Given the description of an element on the screen output the (x, y) to click on. 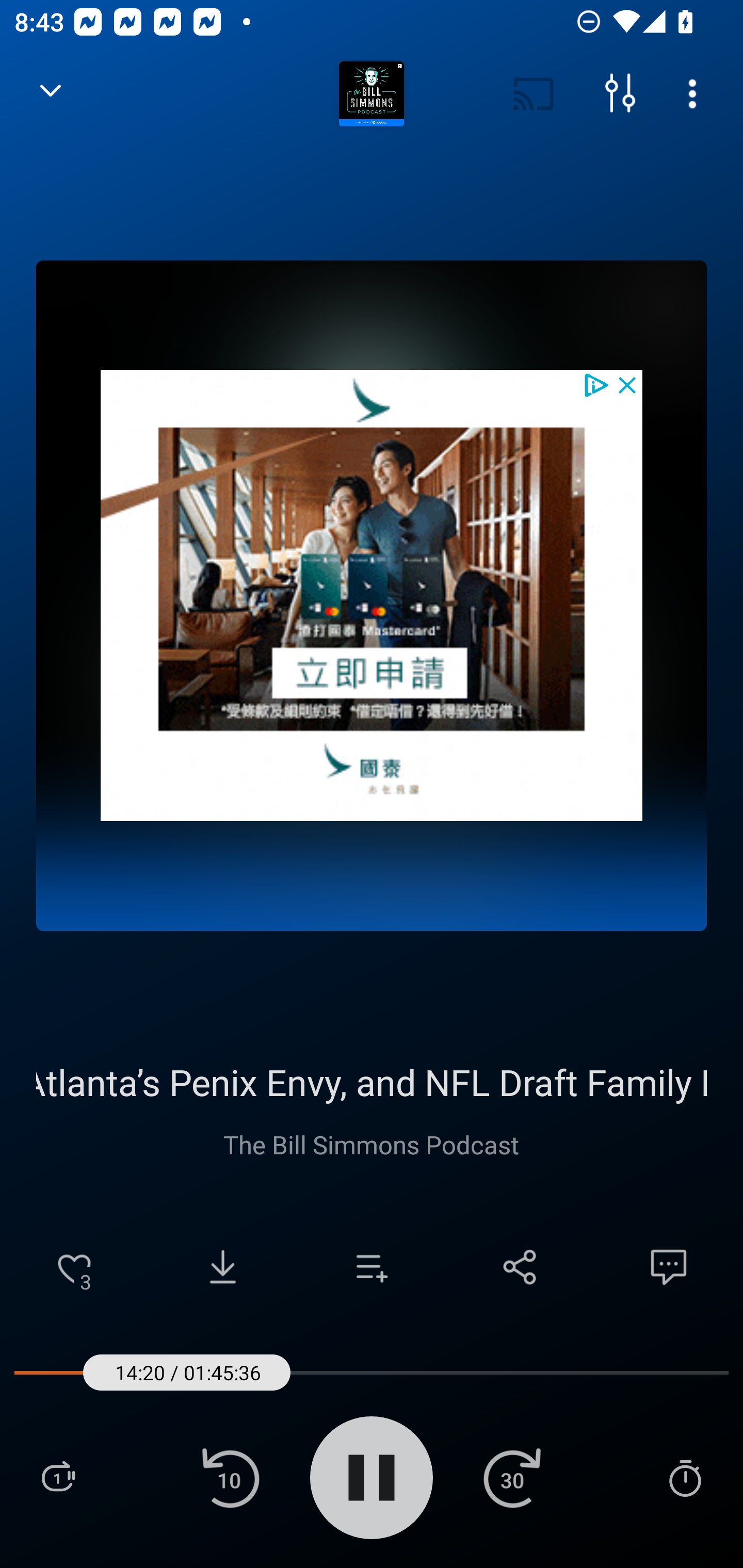
Cast. Disconnected (533, 93)
 Back (50, 94)
privacy_small (595, 384)
close_button (627, 384)
The Bill Simmons Podcast (371, 1144)
Comments (668, 1266)
Add to Favorites (73, 1266)
Add to playlist (371, 1266)
Share (519, 1266)
 Playlist (57, 1477)
Sleep Timer  (684, 1477)
